Given the description of an element on the screen output the (x, y) to click on. 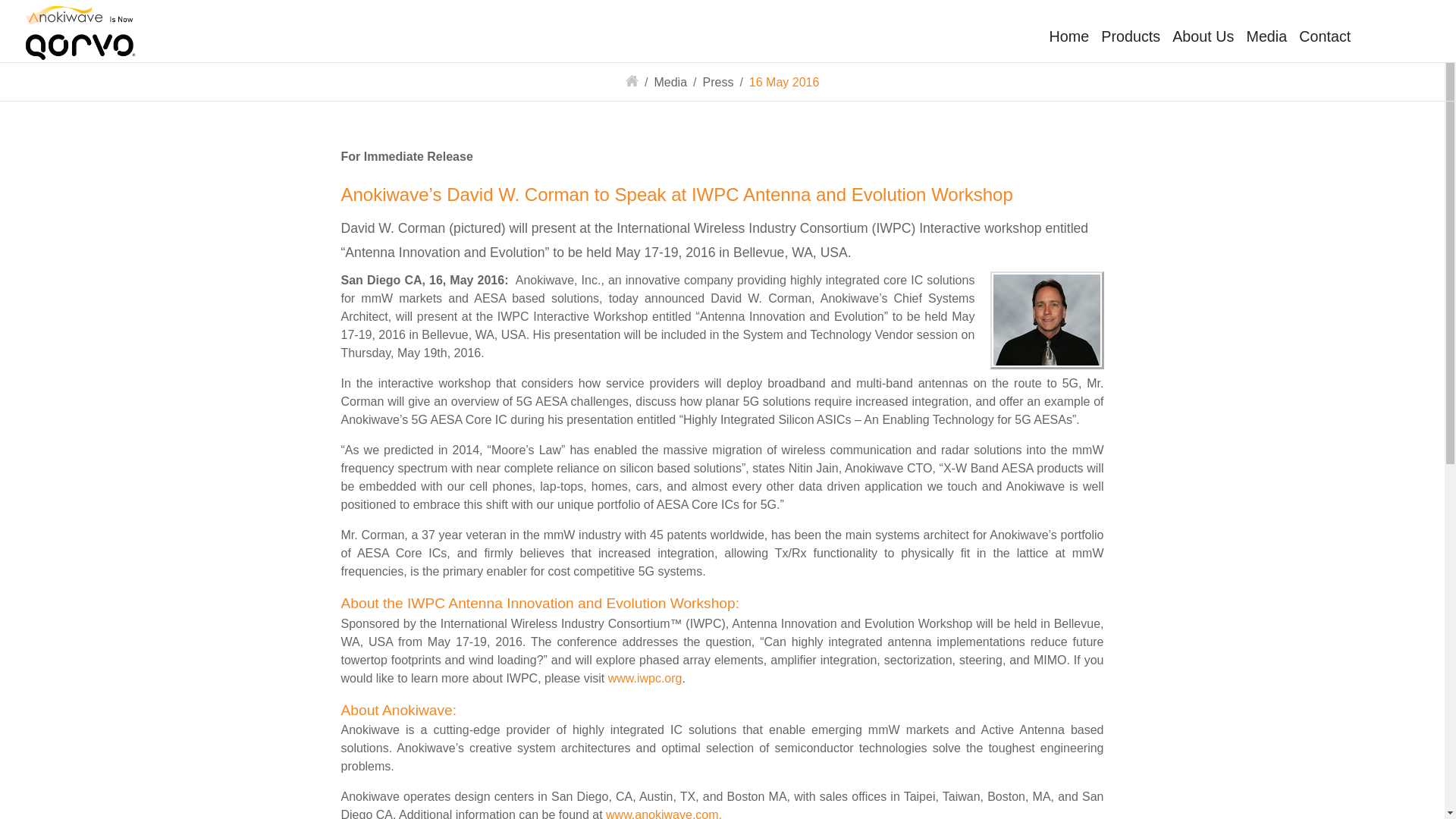
David W. Corman, Chief Architect (1046, 320)
www.iwpc.org (645, 677)
Products (1130, 36)
Media (670, 82)
Press (717, 82)
About Us (1203, 36)
Media (1266, 36)
Contact (1324, 36)
www.anokiwave.com. (663, 813)
Home (1069, 36)
16 May 2016 (784, 82)
